Given the description of an element on the screen output the (x, y) to click on. 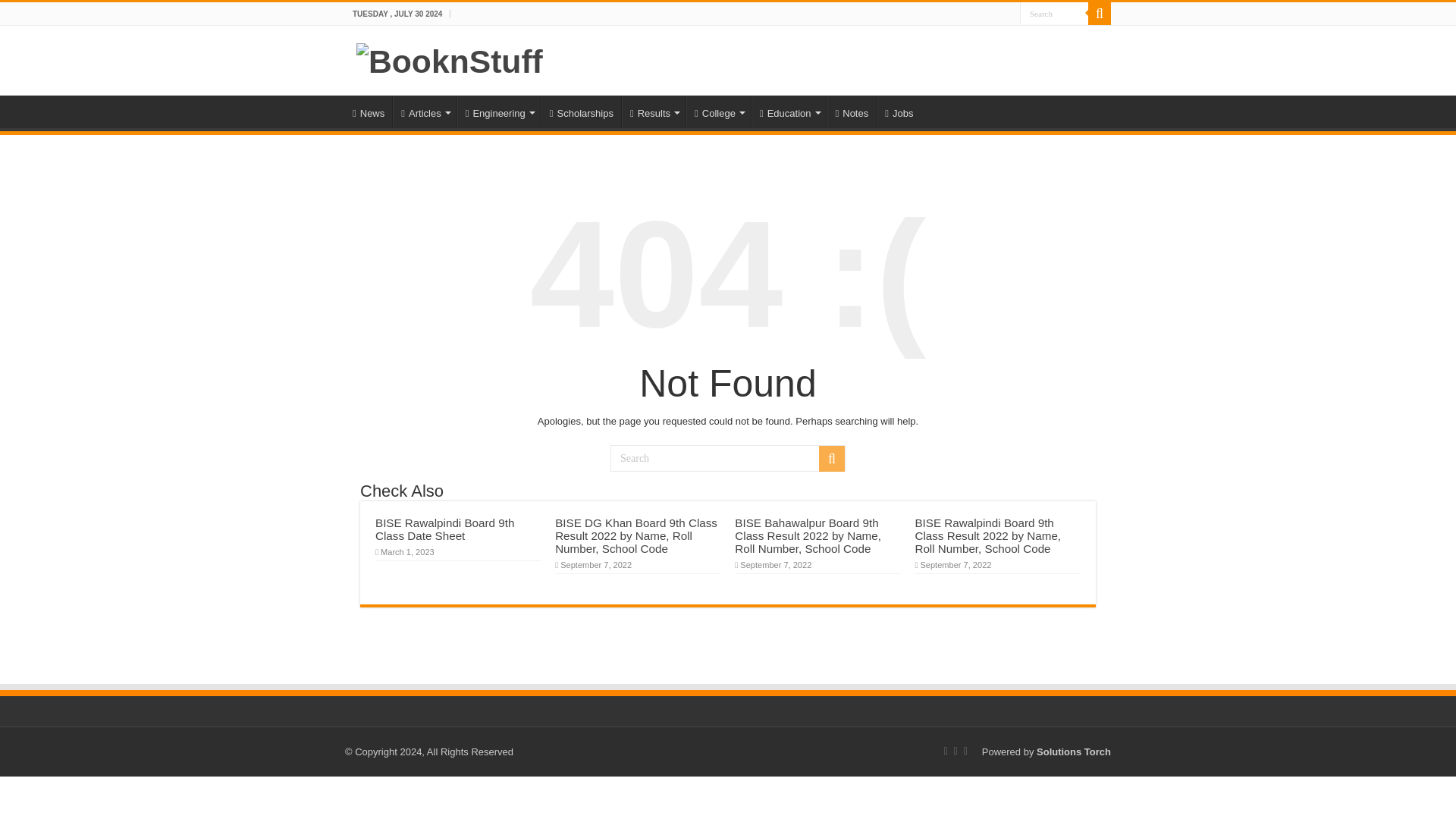
Education (789, 111)
Search (1053, 13)
5th and 8th Class Punjab Education Comission (653, 111)
Search (1053, 13)
Results, Date Sheet, Admissions, Merit Lists (718, 111)
Search (1098, 13)
Articles (424, 111)
Notes (851, 111)
Results (653, 111)
Search (831, 458)
Engineering (498, 111)
News (368, 111)
College (718, 111)
Jobs (898, 111)
Search (727, 458)
